Given the description of an element on the screen output the (x, y) to click on. 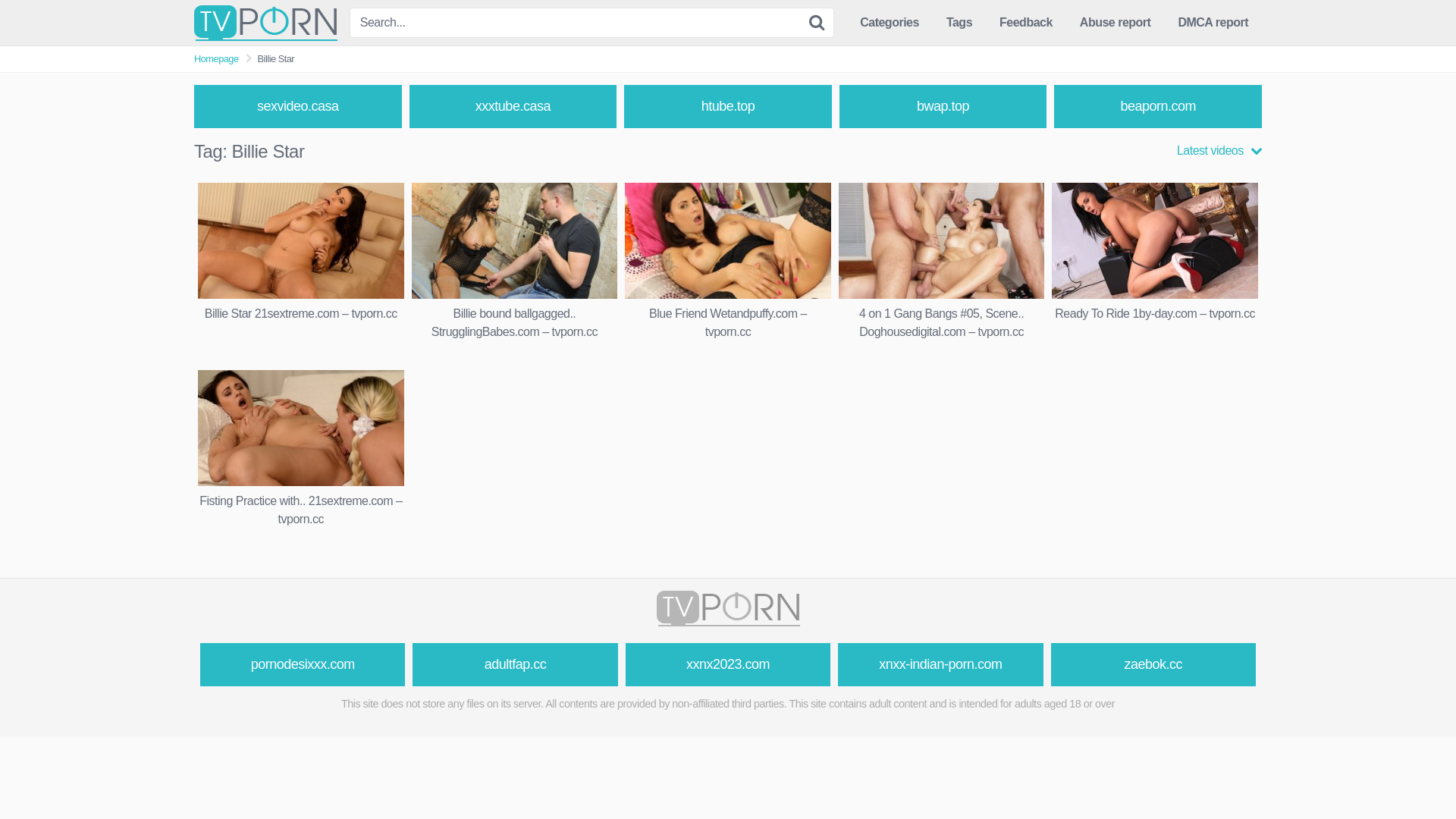
Abuse report Element type: text (1115, 22)
xxxtube.casa Element type: text (513, 106)
xnxx-indian-porn.com Element type: text (939, 664)
xxnx2023.com Element type: text (727, 664)
Homepage Element type: text (216, 58)
DMCA report Element type: text (1212, 22)
beaporn.com Element type: text (1157, 106)
bwap.top Element type: text (943, 106)
adultfap.cc Element type: text (514, 664)
Tags Element type: text (958, 22)
Feedback Element type: text (1025, 22)
TV porn Element type: hover (265, 22)
Categories Element type: text (889, 22)
Skip to content Element type: text (0, 0)
pornodesixxx.com Element type: text (302, 664)
htube.top Element type: text (727, 106)
sexvideo.casa Element type: text (297, 106)
zaebok.cc Element type: text (1153, 664)
